Given the description of an element on the screen output the (x, y) to click on. 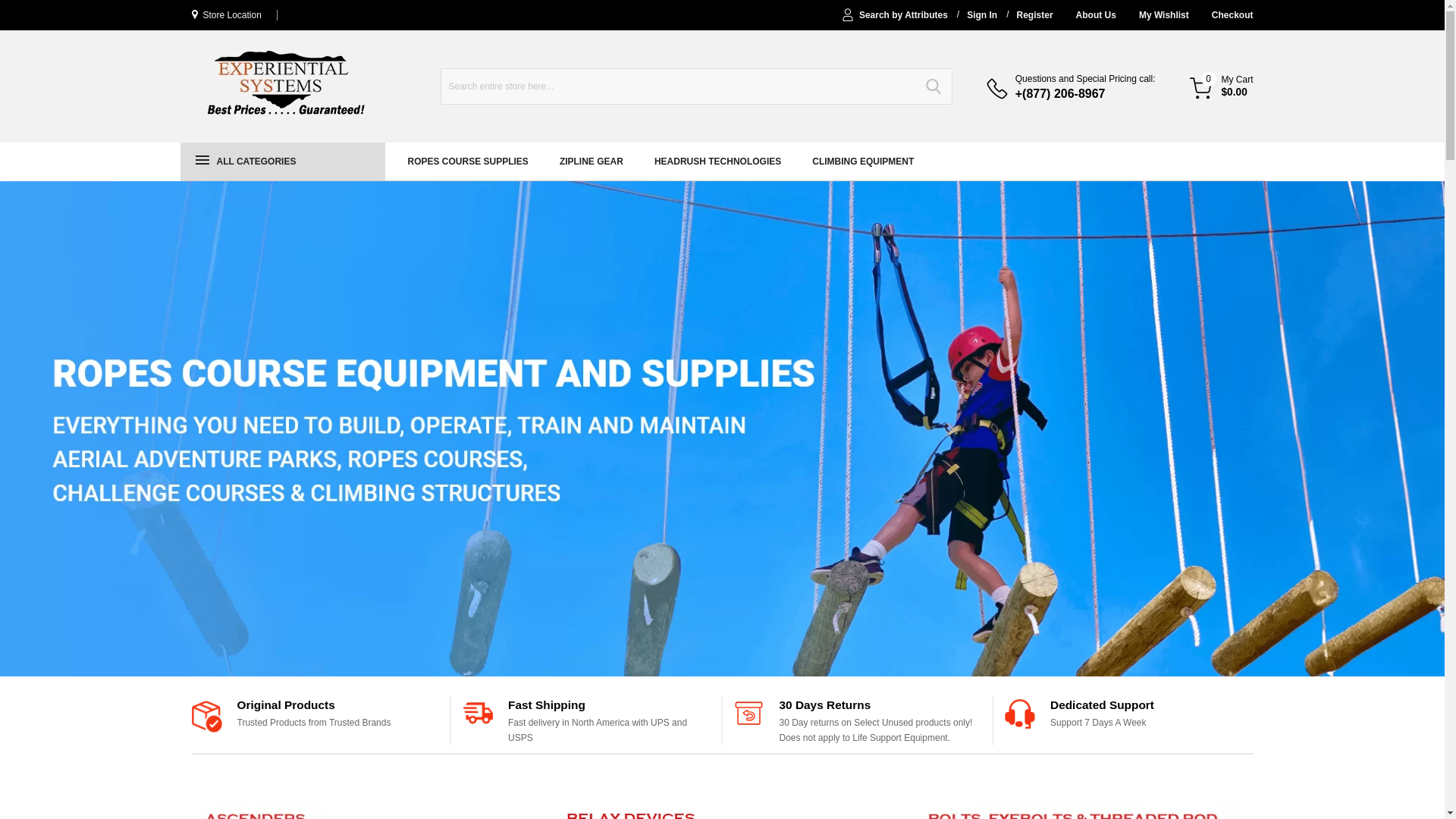
About Us (1095, 15)
Sign In (981, 15)
Ropes Courses (285, 85)
Ropes Courses (285, 78)
My Wishlist (1163, 15)
Checkout (1232, 15)
Search (933, 86)
Register (1034, 15)
Store Location (225, 13)
Search by Attributes (903, 15)
